Given the description of an element on the screen output the (x, y) to click on. 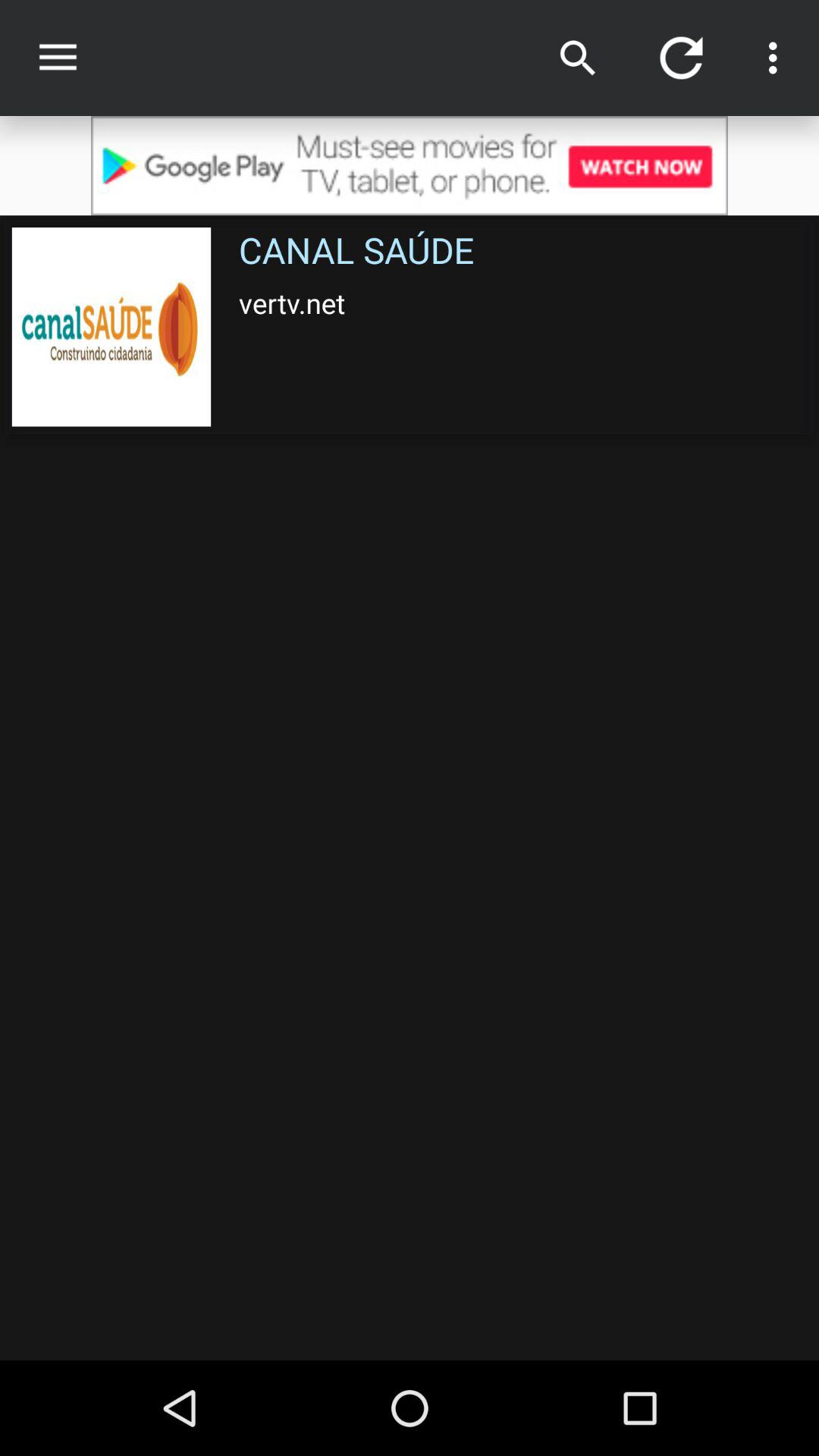
advertisement (409, 165)
